Given the description of an element on the screen output the (x, y) to click on. 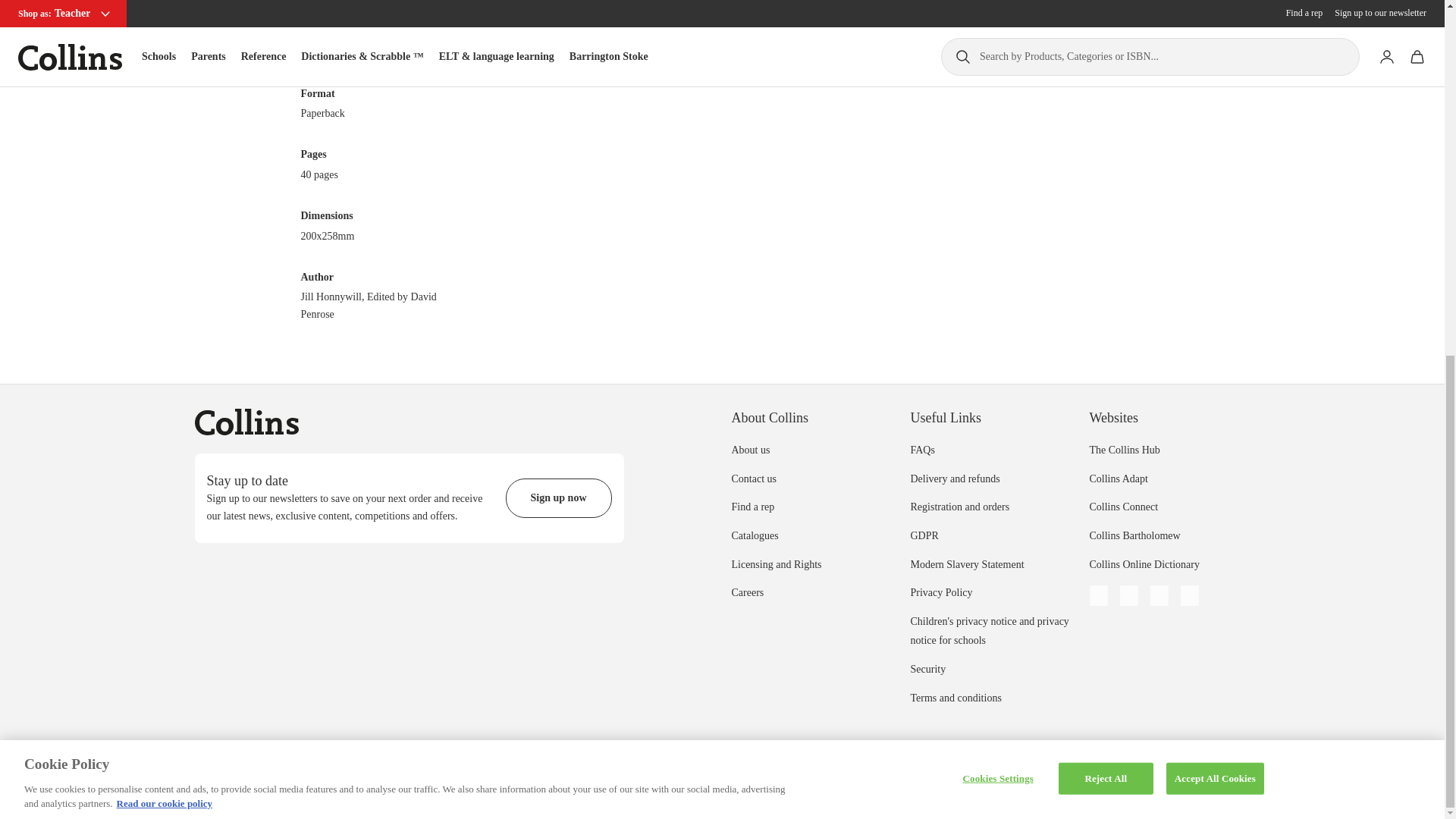
Licensing and Rights (775, 564)
Catalogues (753, 535)
Find a rep (752, 506)
Sign up now (558, 497)
About us (750, 449)
Contact us (753, 478)
Careers (746, 592)
